Given the description of an element on the screen output the (x, y) to click on. 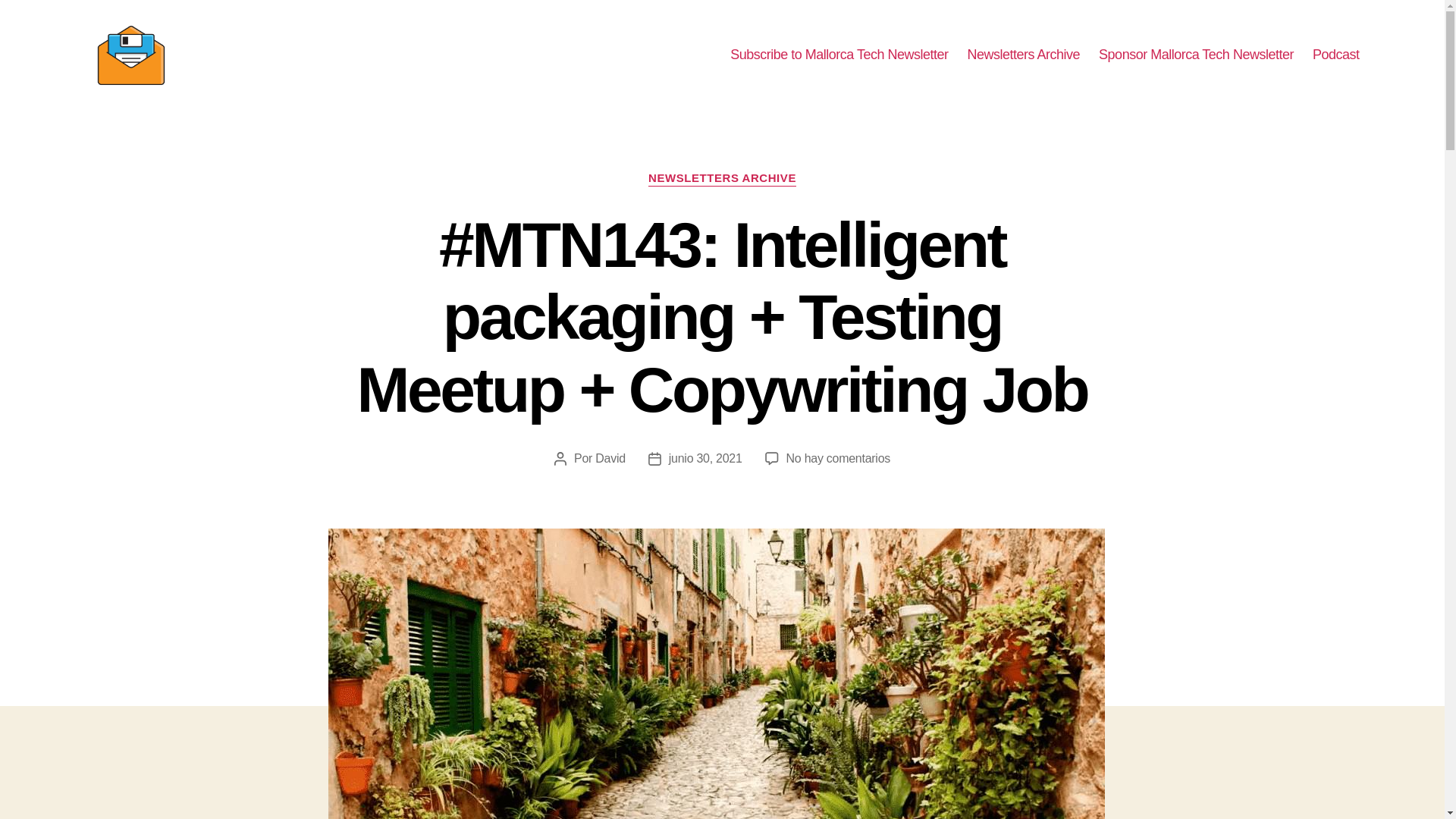
Newsletters Archive (1024, 54)
NEWSLETTERS ARCHIVE (721, 178)
junio 30, 2021 (705, 458)
Podcast (1336, 54)
Sponsor Mallorca Tech Newsletter (1196, 54)
David (610, 458)
Subscribe to Mallorca Tech Newsletter (838, 54)
